Given the description of an element on the screen output the (x, y) to click on. 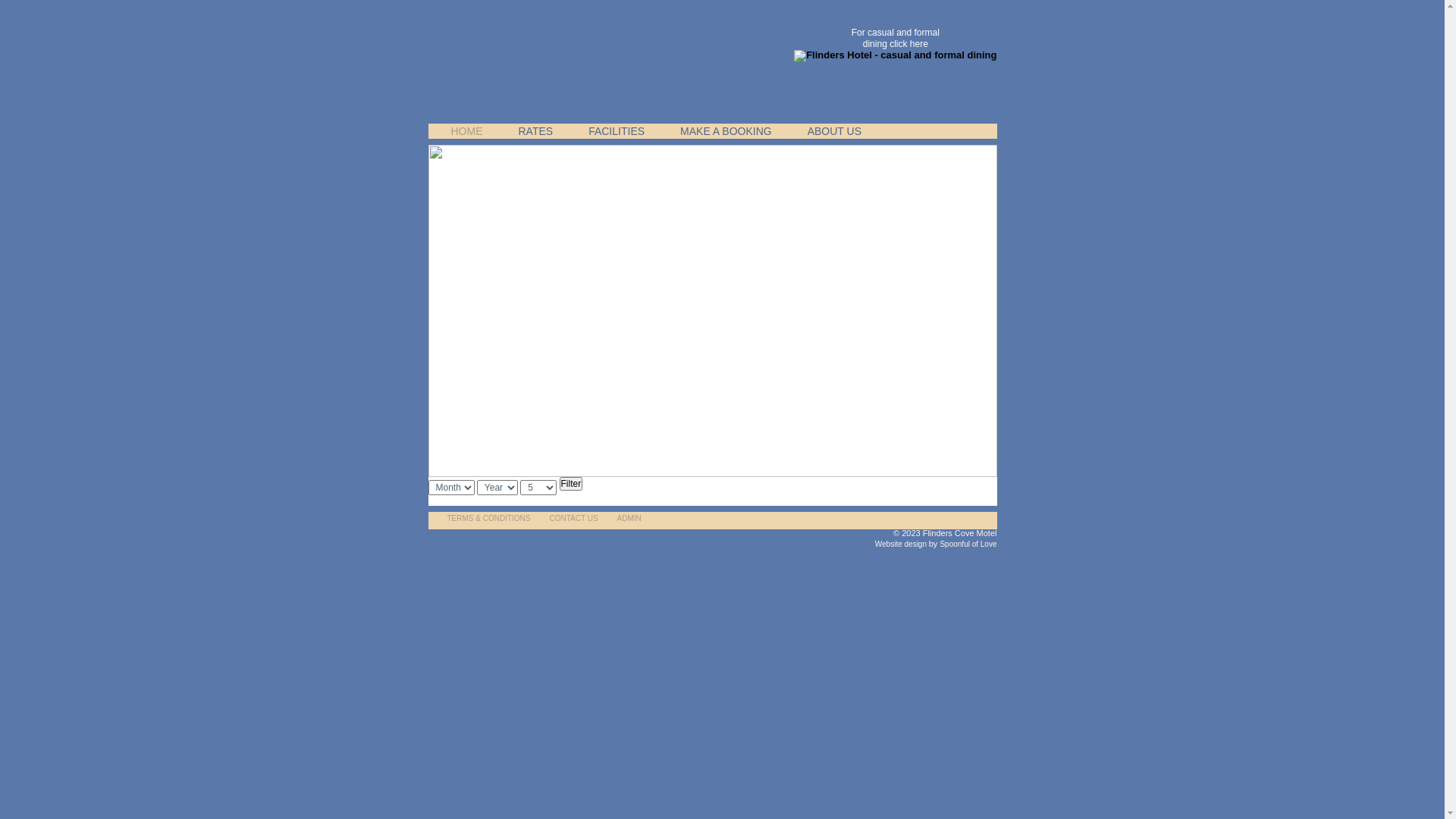
Website design Element type: text (901, 543)
Filter Element type: text (571, 483)
Flinders Hotel - casual and formal dining Element type: hover (894, 56)
MAKE A BOOKING Element type: text (720, 131)
TERMS & CONDITIONS Element type: text (484, 518)
CONTACT US Element type: text (570, 518)
RATES Element type: text (530, 131)
ADMIN Element type: text (625, 518)
FACILITIES Element type: text (611, 131)
ABOUT US Element type: text (829, 131)
HOME Element type: text (462, 131)
Spoonful of Love Element type: text (967, 543)
